Given the description of an element on the screen output the (x, y) to click on. 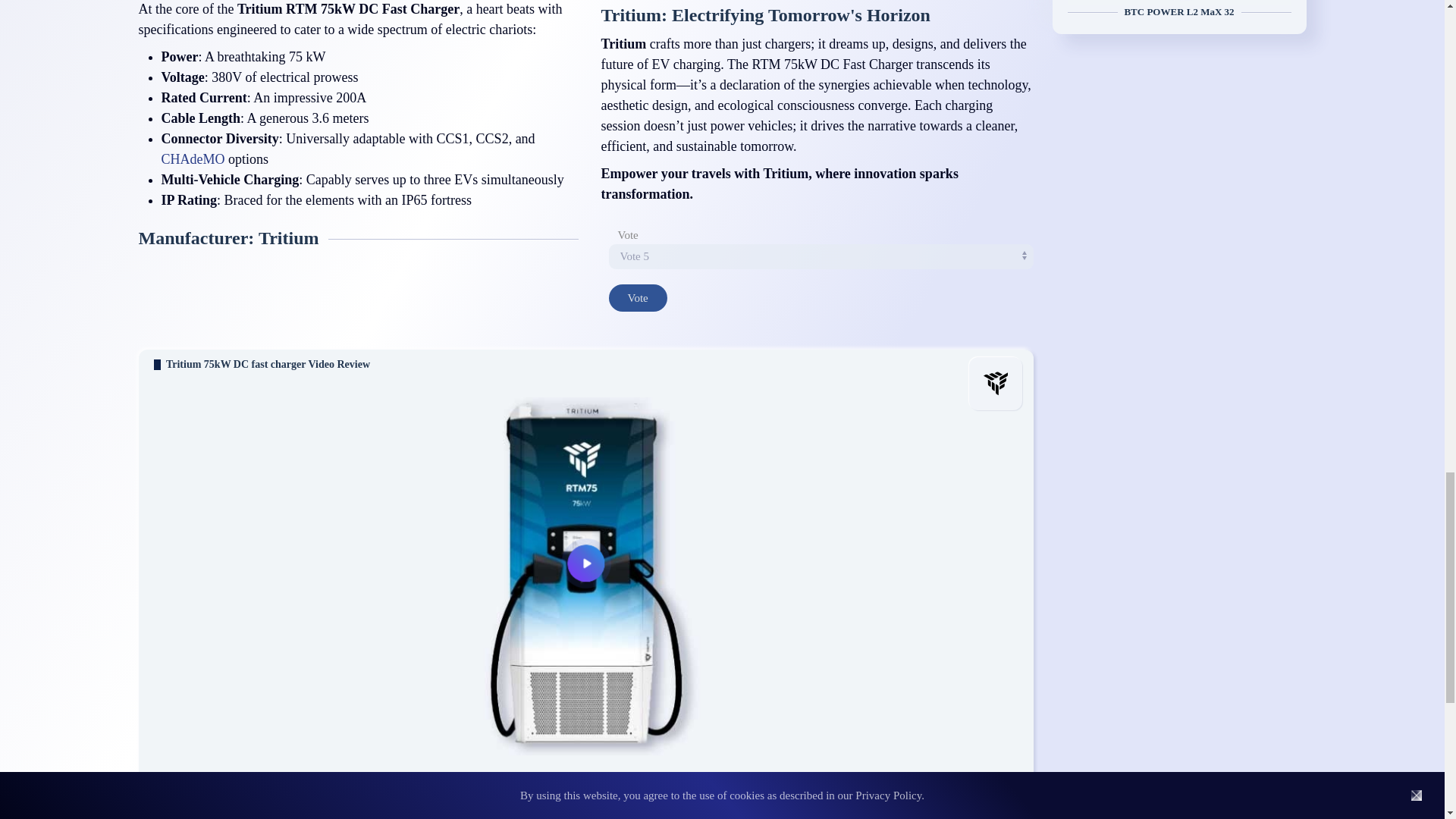
Vote (637, 298)
